Given the description of an element on the screen output the (x, y) to click on. 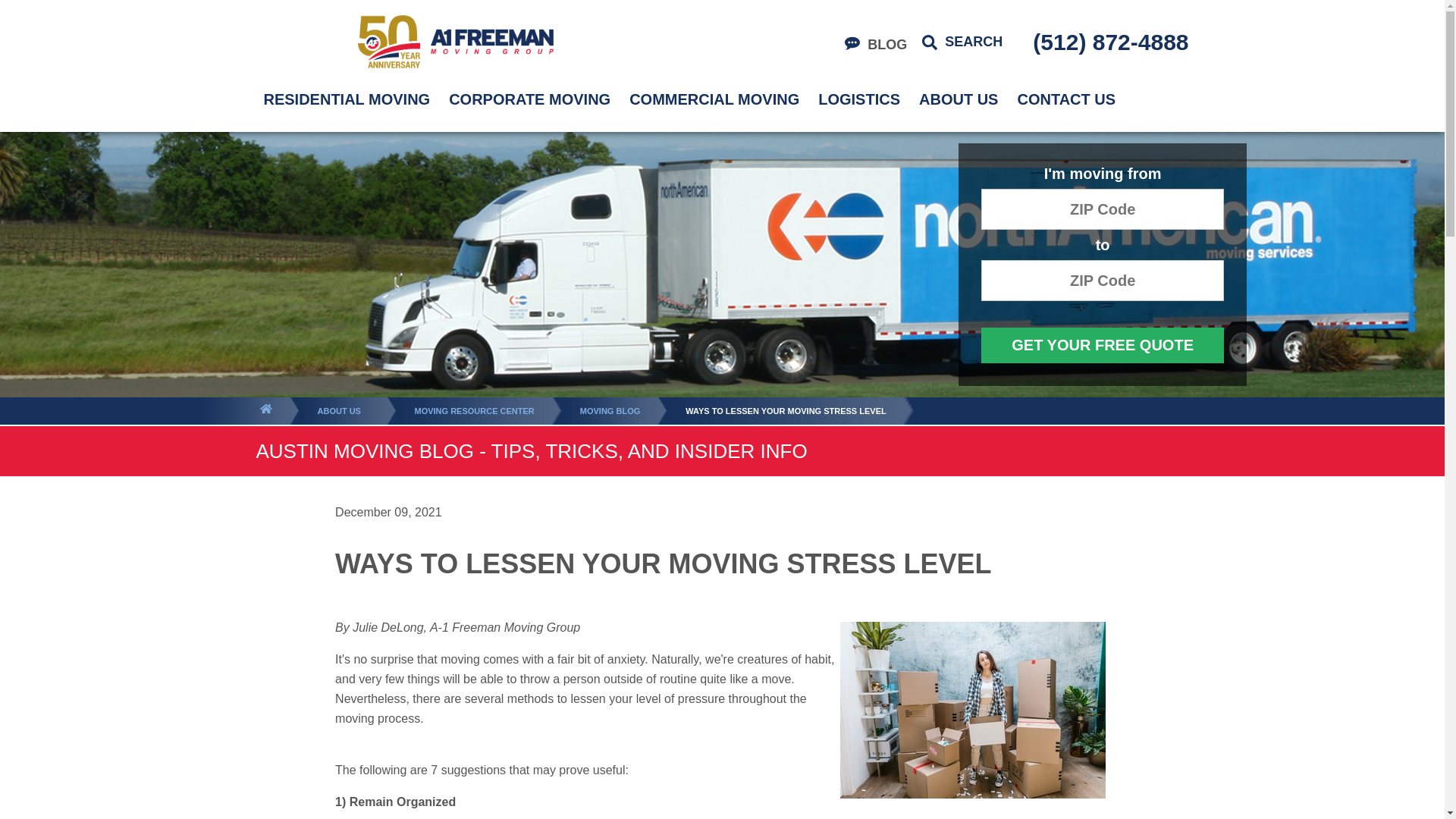
BLOG (875, 44)
RESIDENTIAL MOVING (347, 99)
A-1 Freeman Moving Group Home (455, 41)
CORPORATE MOVING (529, 99)
SEARCH (962, 42)
Open Search (962, 42)
